Given the description of an element on the screen output the (x, y) to click on. 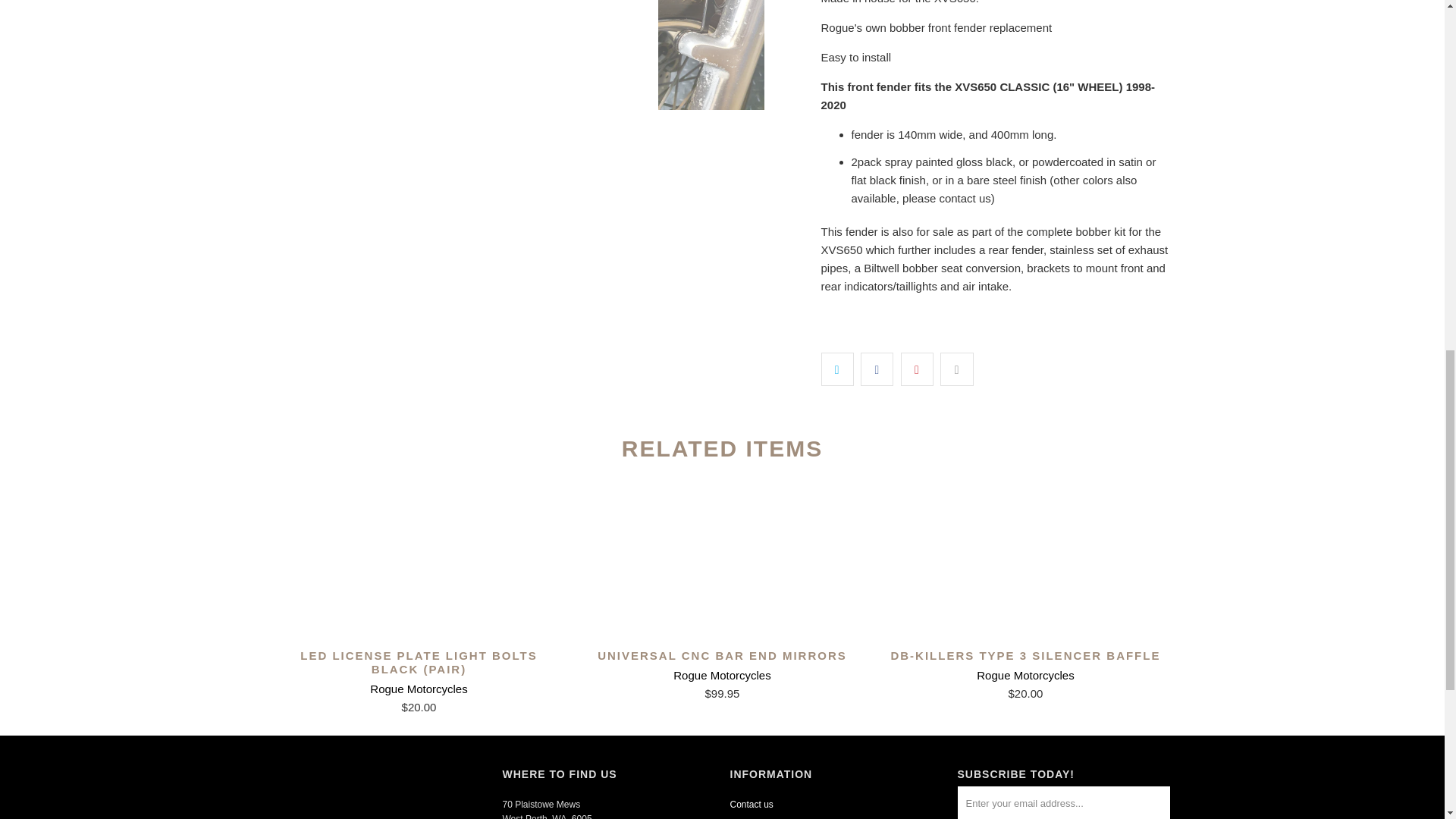
Share this on Twitter (837, 368)
Email this to a friend (956, 368)
Share this on Facebook (876, 368)
Share this on Pinterest (917, 368)
